Given the description of an element on the screen output the (x, y) to click on. 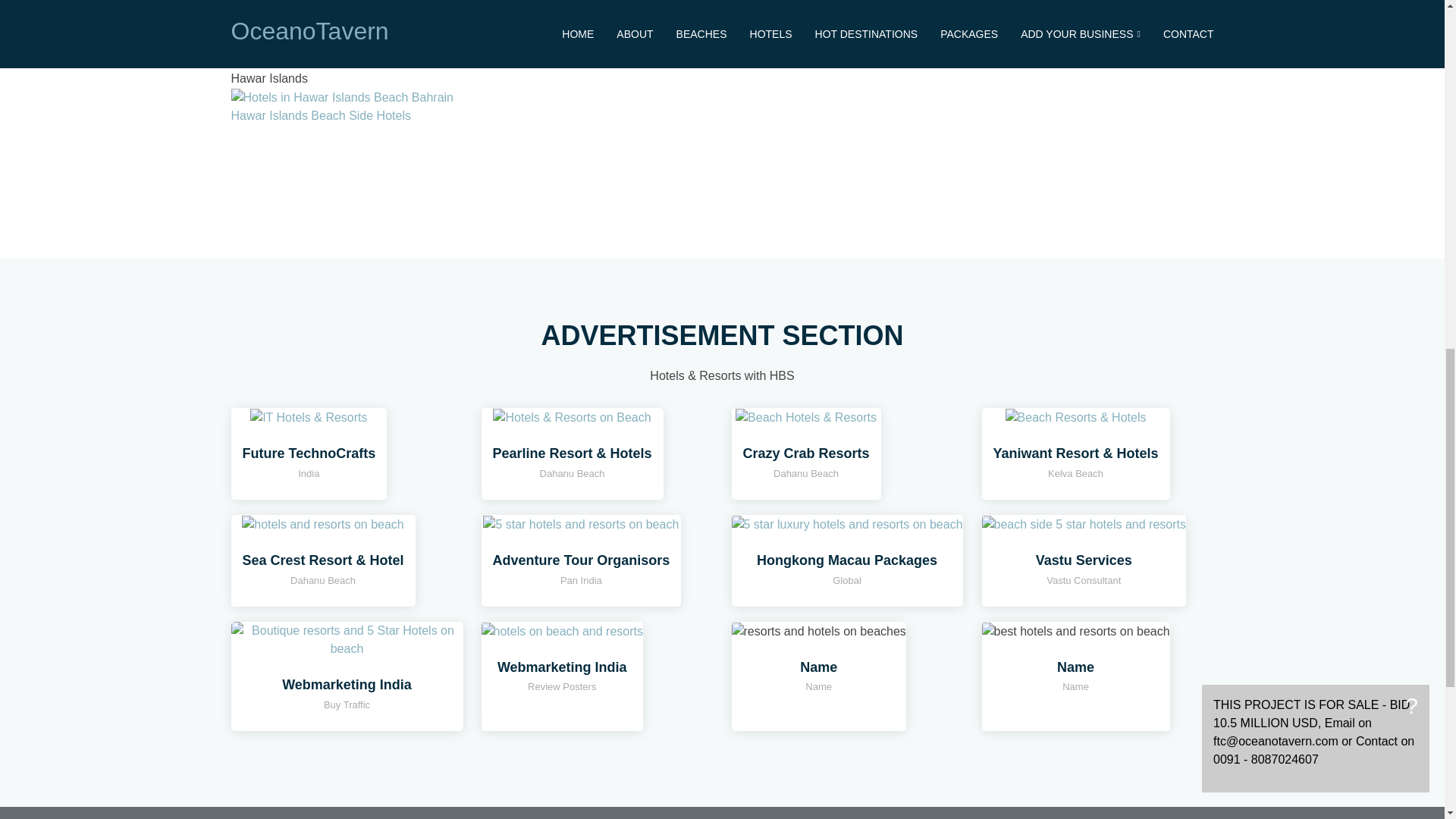
hotels and Resorts (571, 416)
hotels and Resorts (322, 522)
Al Jazair Beach Side Hotels (305, 60)
hotels and Resorts (580, 522)
hotels and Resorts (308, 416)
hotels and Resorts (846, 522)
Al Zallaq Beach Side Hotels (305, 23)
hotels and Resorts (561, 630)
hotels and Resorts (1083, 522)
hotels and Resorts (346, 638)
Hawar Islands Beach Side Hotels (320, 115)
hotels and Resorts (1076, 416)
hotels and Resorts (805, 416)
